Given the description of an element on the screen output the (x, y) to click on. 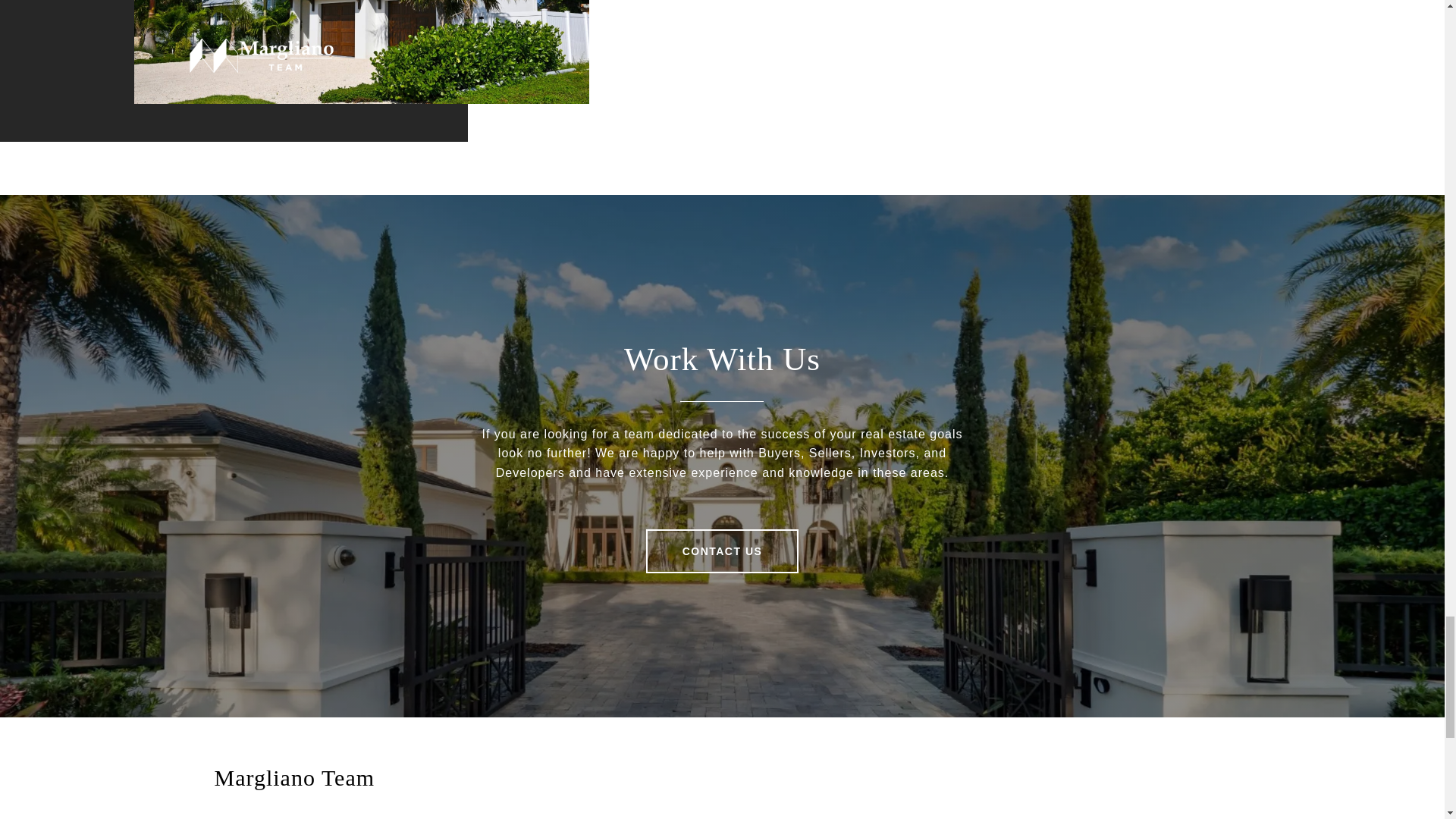
CONTACT US (722, 551)
